Given the description of an element on the screen output the (x, y) to click on. 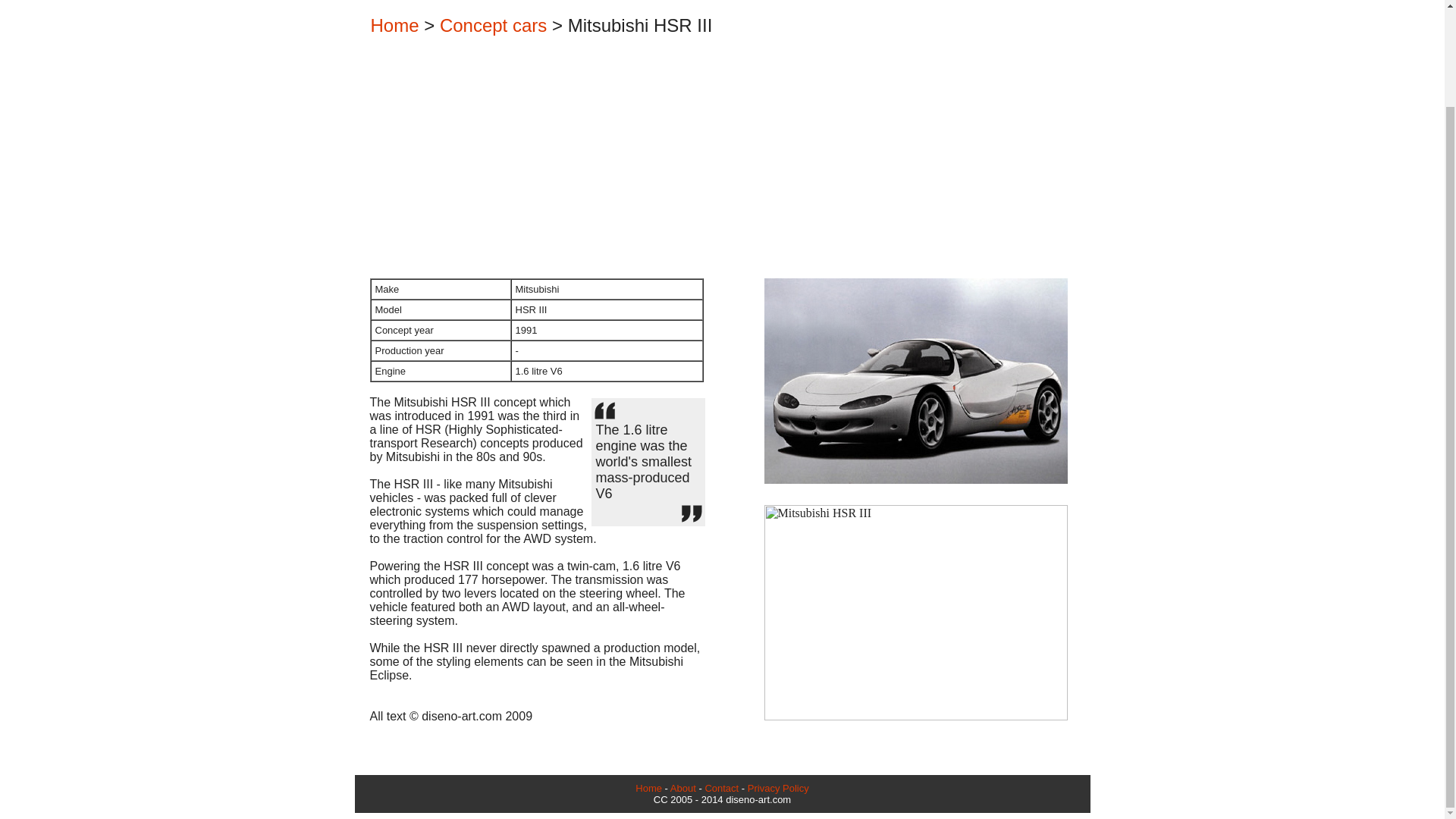
Privacy Policy (778, 787)
About (682, 787)
Concept cars (493, 25)
Contact (721, 787)
Home (394, 25)
Home (648, 787)
